Given the description of an element on the screen output the (x, y) to click on. 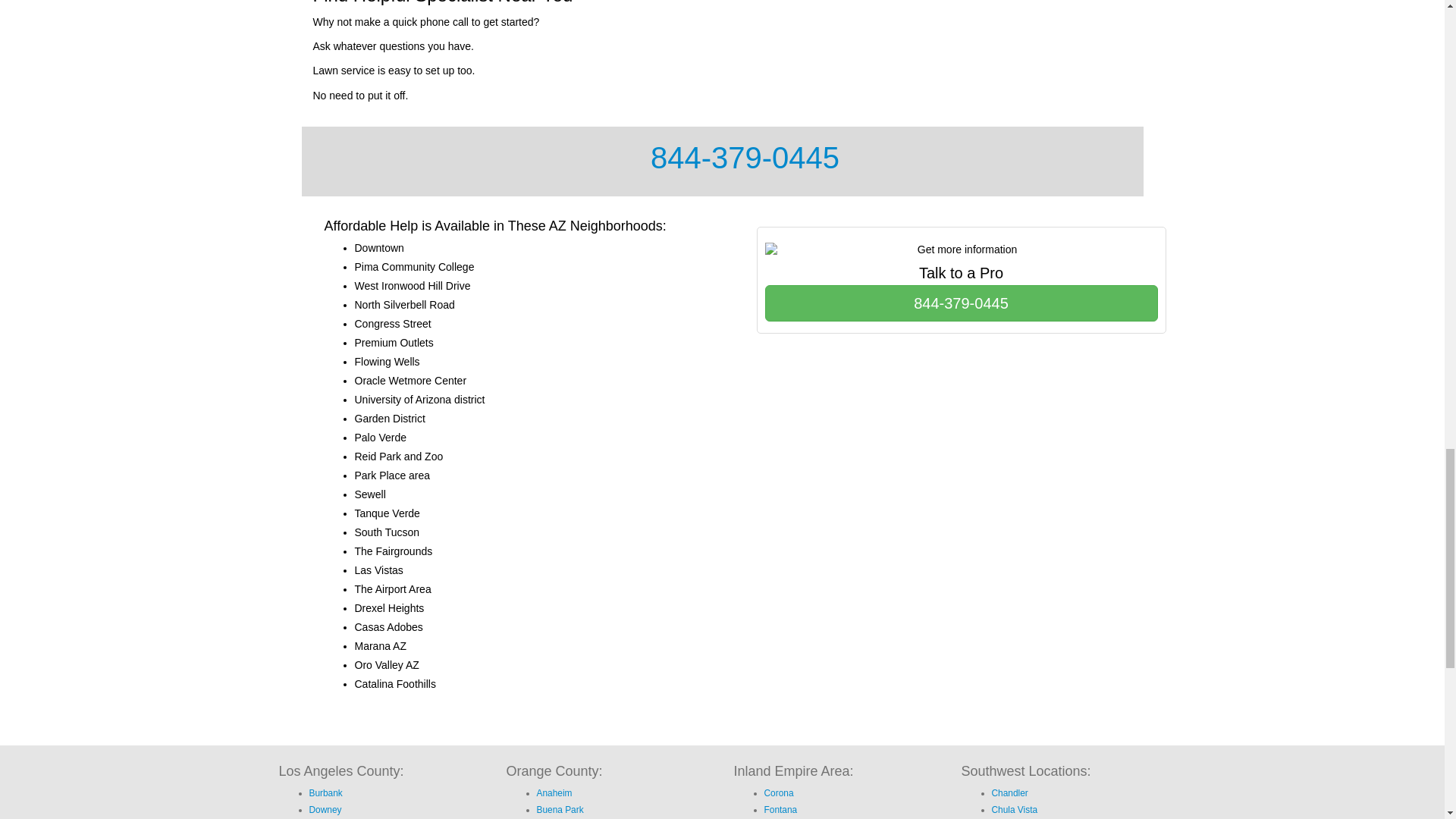
Burbank (325, 792)
Downey (325, 809)
Why Not Call (960, 303)
844-379-0445 (745, 157)
Anaheim (554, 792)
844-379-0445 (960, 303)
Buena Park (560, 809)
